Given the description of an element on the screen output the (x, y) to click on. 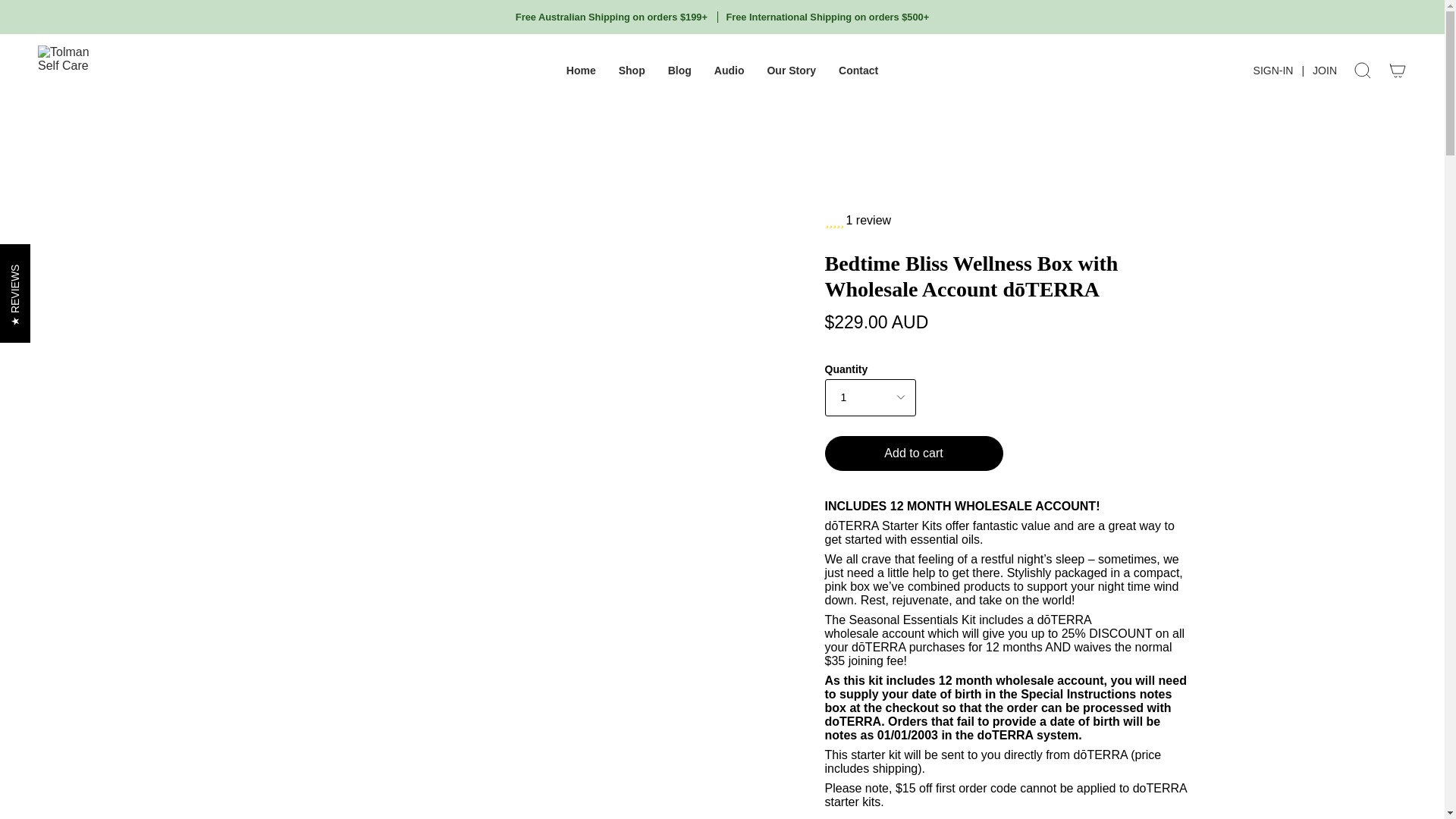
Search (1362, 70)
Home (580, 70)
JOIN (1324, 70)
Shop (631, 70)
SIGN-IN (1272, 70)
Our Story (791, 70)
Audio (729, 70)
Cart (1397, 70)
Blog (679, 70)
Contact (858, 70)
